Given the description of an element on the screen output the (x, y) to click on. 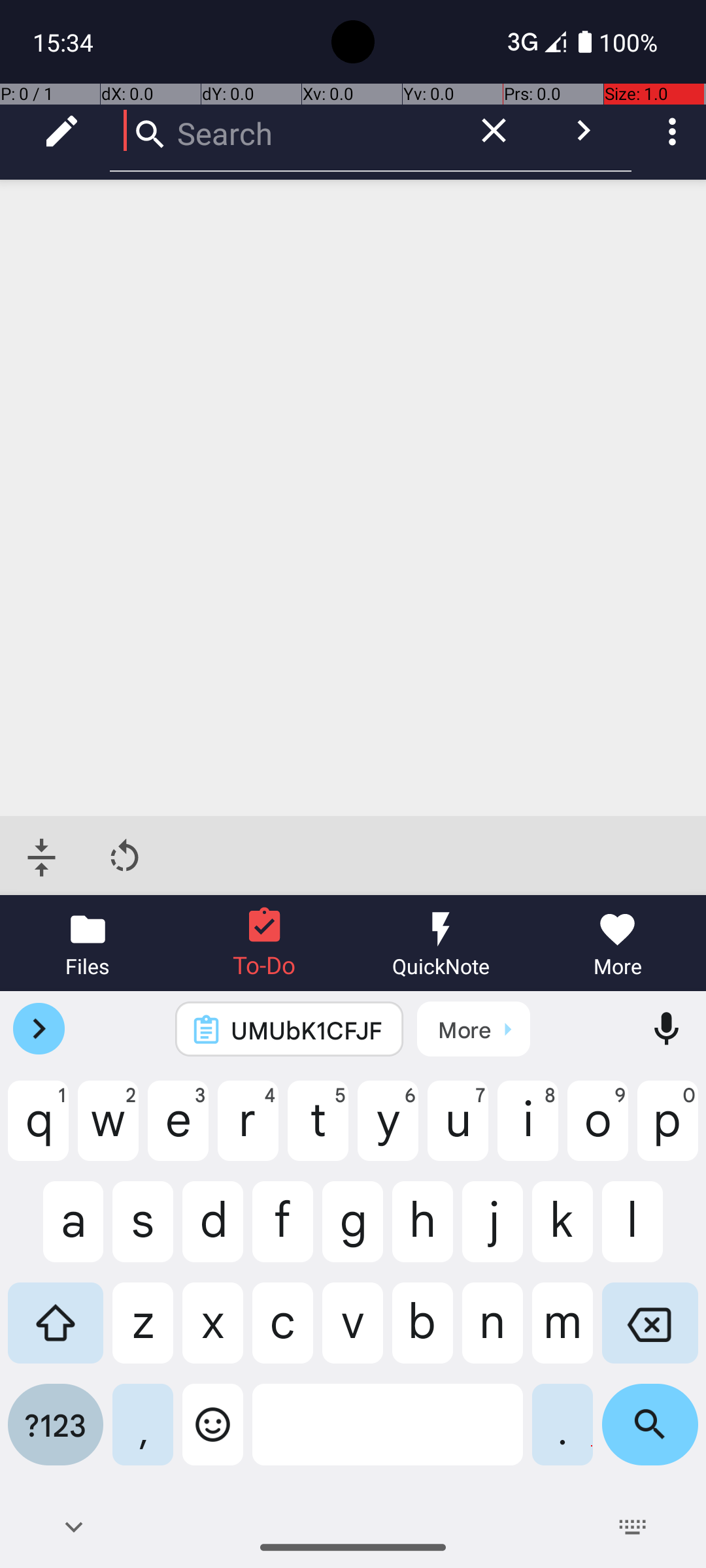
Edit mode Element type: android.widget.TextView (61, 131)
   Search Element type: android.widget.AutoCompleteTextView (280, 130)
Clear query Element type: android.widget.ImageView (493, 130)
Submit query Element type: android.widget.ImageView (583, 130)
Jump to bottom Element type: android.widget.ImageView (41, 857)
Rotate Element type: android.widget.ImageView (124, 857)
UMUbK1CFJF Element type: android.widget.TextView (306, 1029)
